Given the description of an element on the screen output the (x, y) to click on. 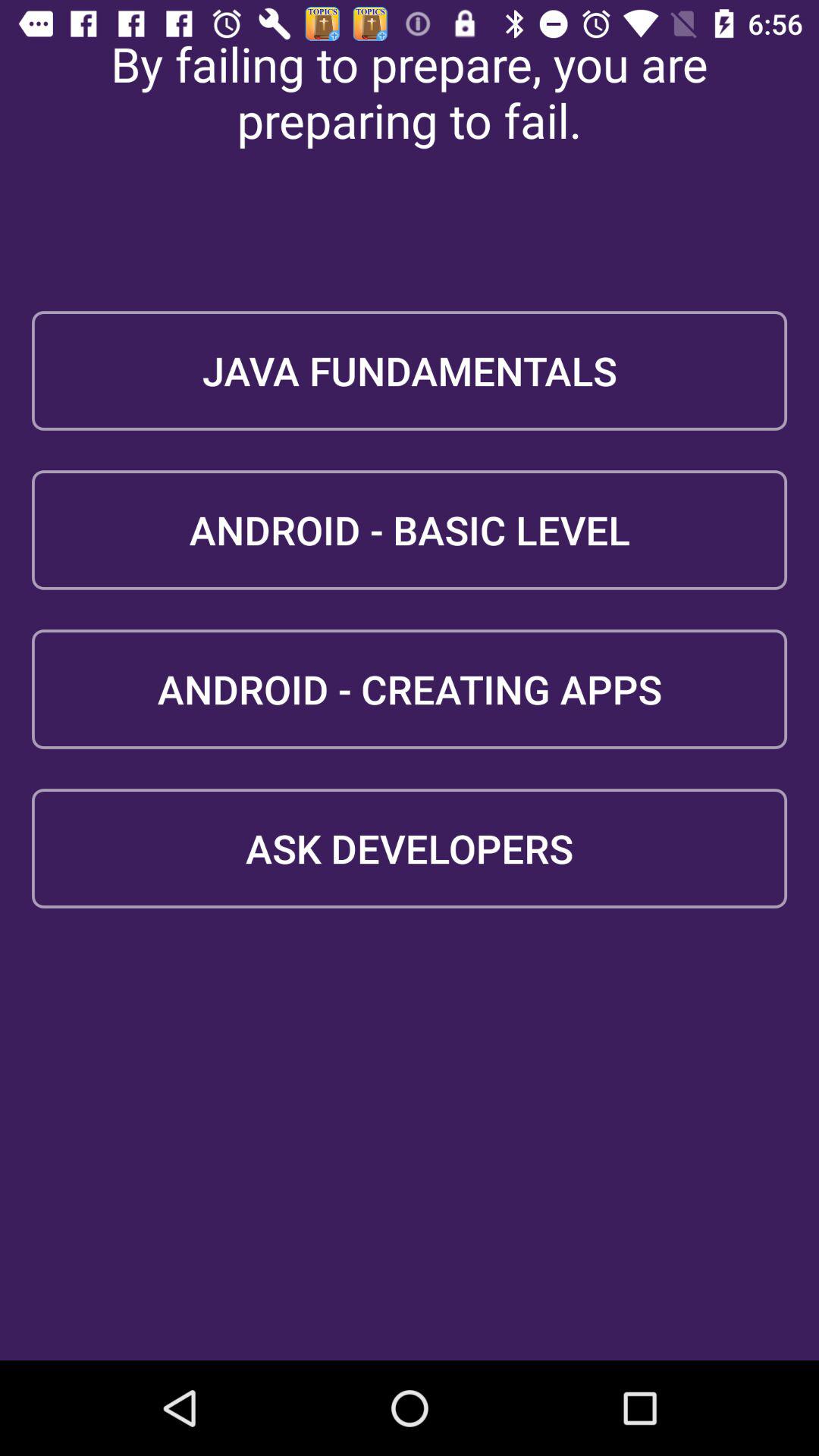
choose the java fundamentals icon (409, 370)
